Given the description of an element on the screen output the (x, y) to click on. 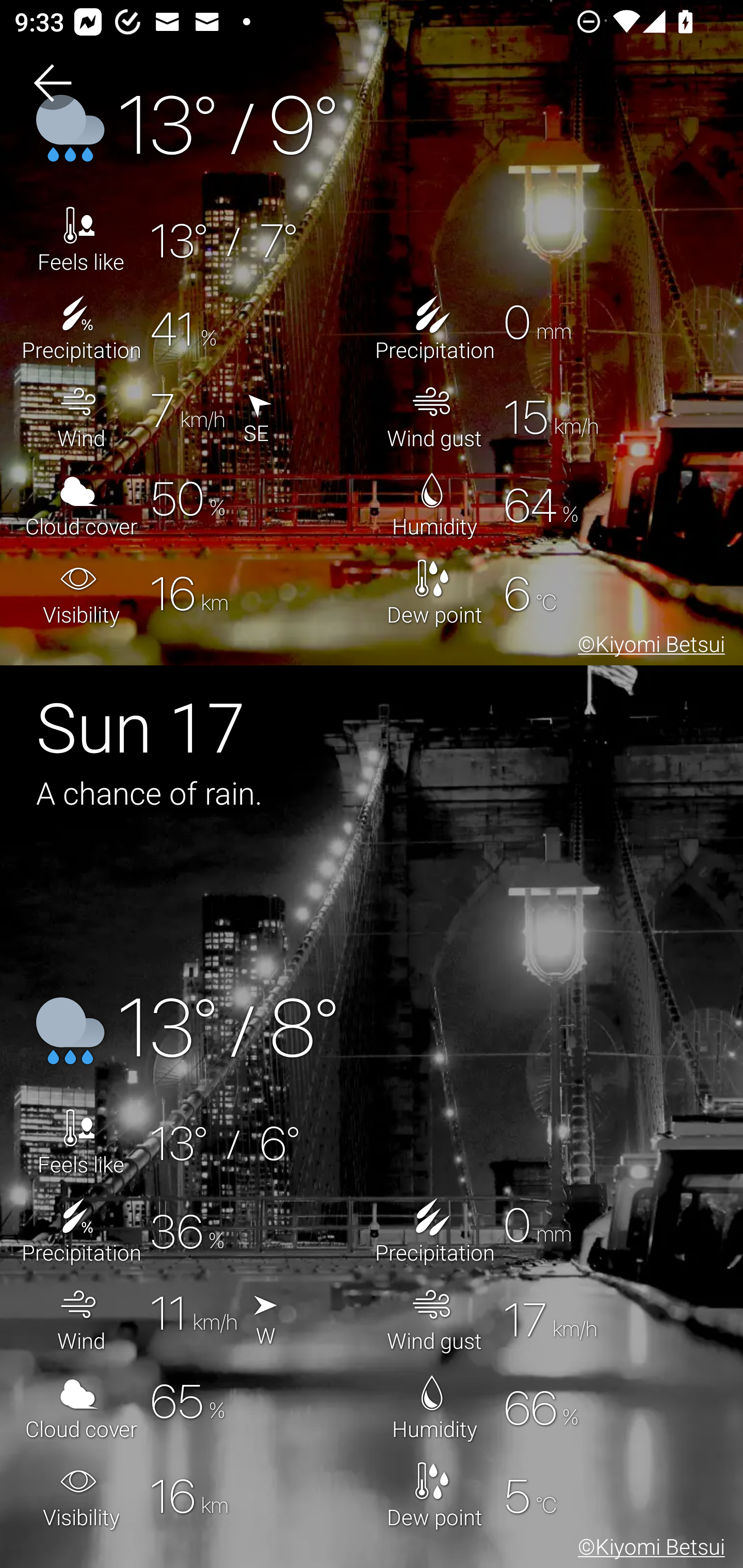
©Kiyomi Betsui (647, 646)
©Kiyomi Betsui (647, 1549)
